Given the description of an element on the screen output the (x, y) to click on. 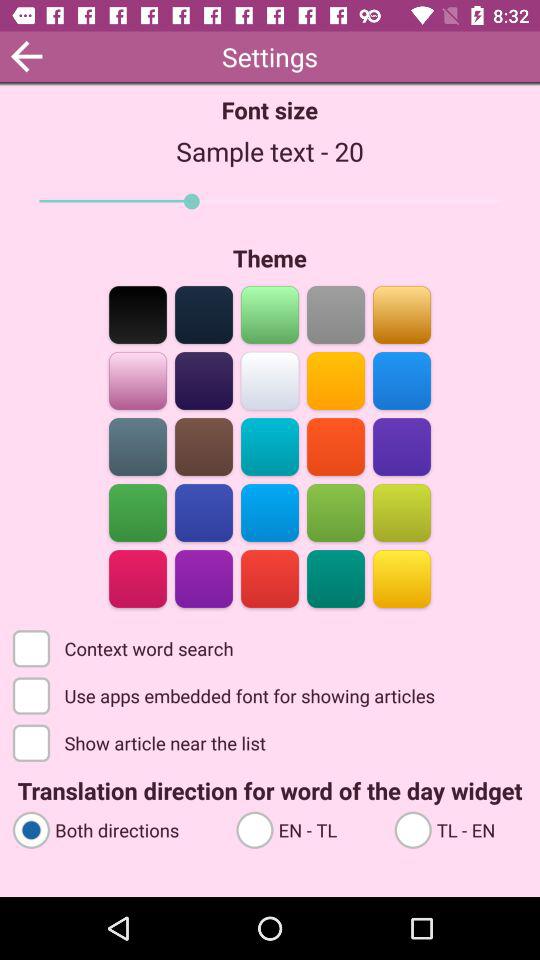
select the color bar (269, 577)
